Given the description of an element on the screen output the (x, y) to click on. 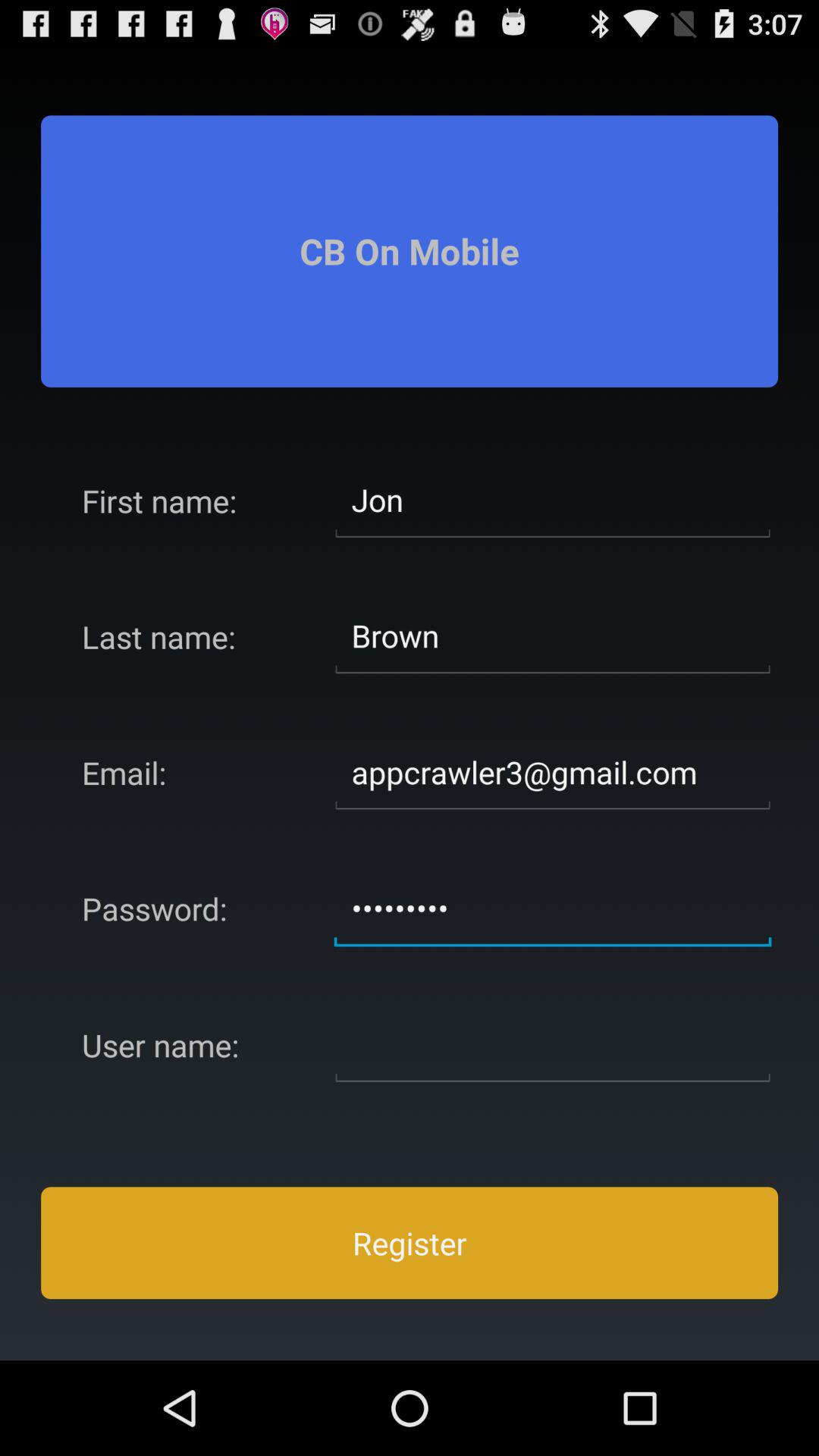
thats the space to type in your desired username (552, 1044)
